Given the description of an element on the screen output the (x, y) to click on. 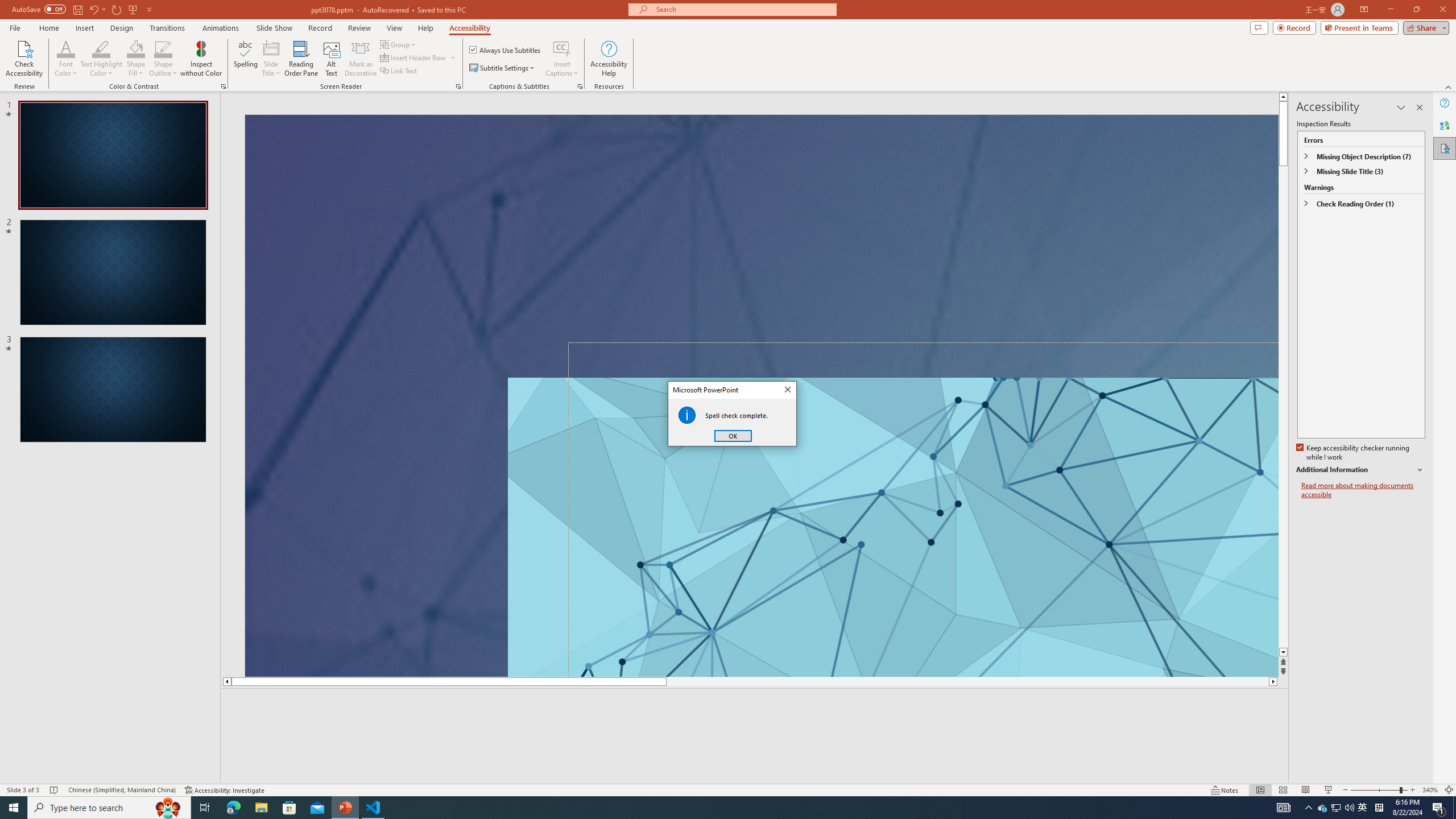
Insert Header Row (418, 56)
Subtitle Settings (502, 67)
